Given the description of an element on the screen output the (x, y) to click on. 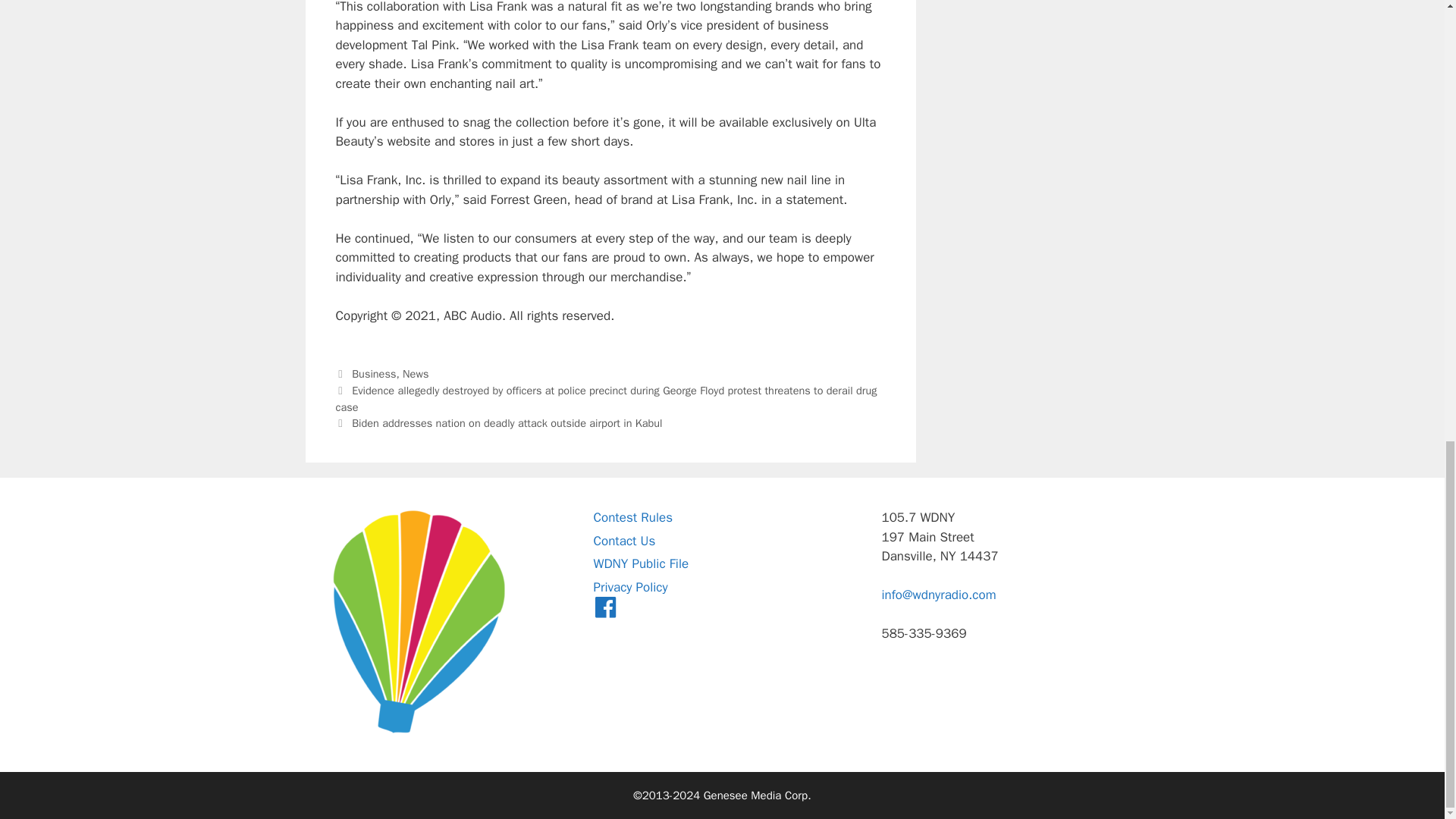
Business (374, 373)
Contact Us (623, 540)
WDNY Public File (640, 563)
News (415, 373)
Menu Item (605, 609)
Contest Rules (632, 517)
Privacy Policy (629, 587)
